Given the description of an element on the screen output the (x, y) to click on. 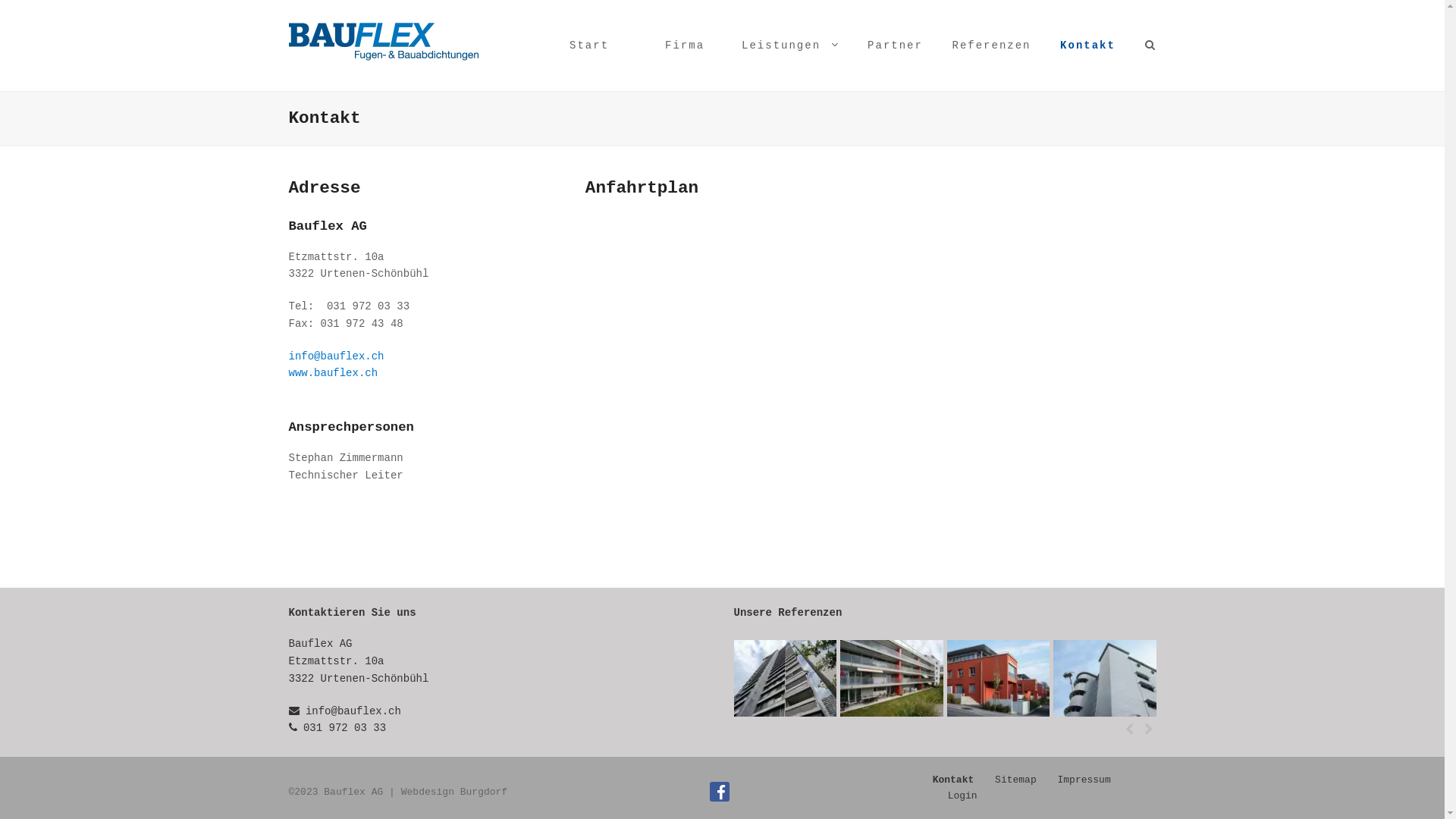
Previous Slide Element type: text (1129, 729)
info@bauflex.ch Element type: text (353, 711)
Kontakt Element type: text (953, 779)
Facebook Element type: hover (719, 791)
Leistungen Element type: text (789, 45)
Next Slide Element type: text (1147, 729)
info@bauflex.ch Element type: text (335, 356)
www.bauflex.ch Element type: text (332, 373)
Firma Element type: text (684, 45)
Sitemap Element type: text (1015, 779)
Referenzen Element type: text (990, 45)
Unsere Referenzen Element type: text (788, 612)
Webdesign Burgdorf Element type: text (454, 791)
Kontaktieren Sie uns Element type: text (351, 612)
Start Element type: text (589, 45)
Impressum Element type: text (1083, 779)
Login Element type: text (962, 795)
Partner Element type: text (894, 45)
Kontakt Element type: text (1087, 45)
